Given the description of an element on the screen output the (x, y) to click on. 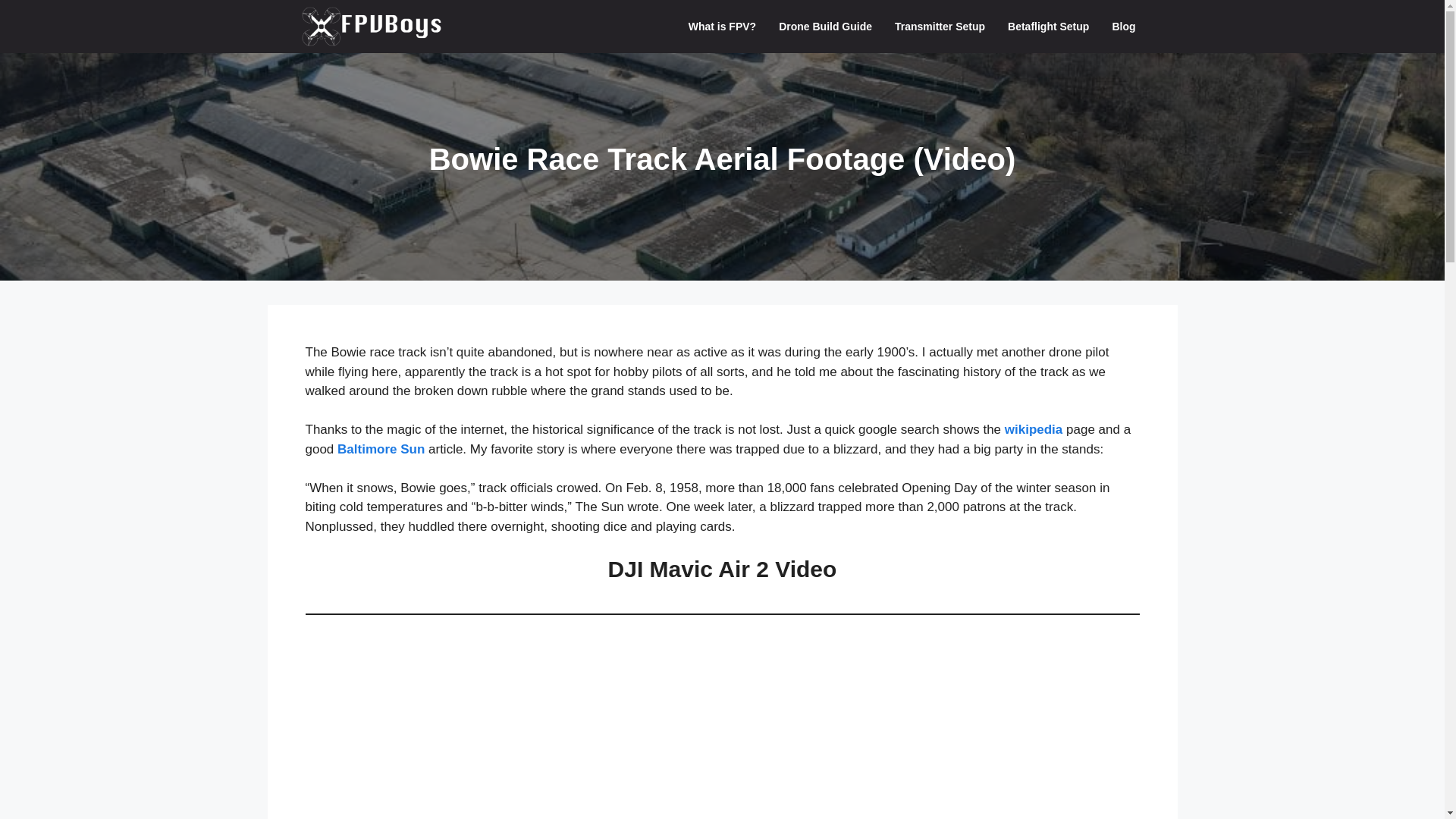
Blog (1123, 26)
wikipedia (1033, 429)
What is FPV? (722, 26)
Betaflight Setup (1047, 26)
Drone Build Guide (825, 26)
Transmitter Setup (939, 26)
Baltimore Sun (381, 448)
